Given the description of an element on the screen output the (x, y) to click on. 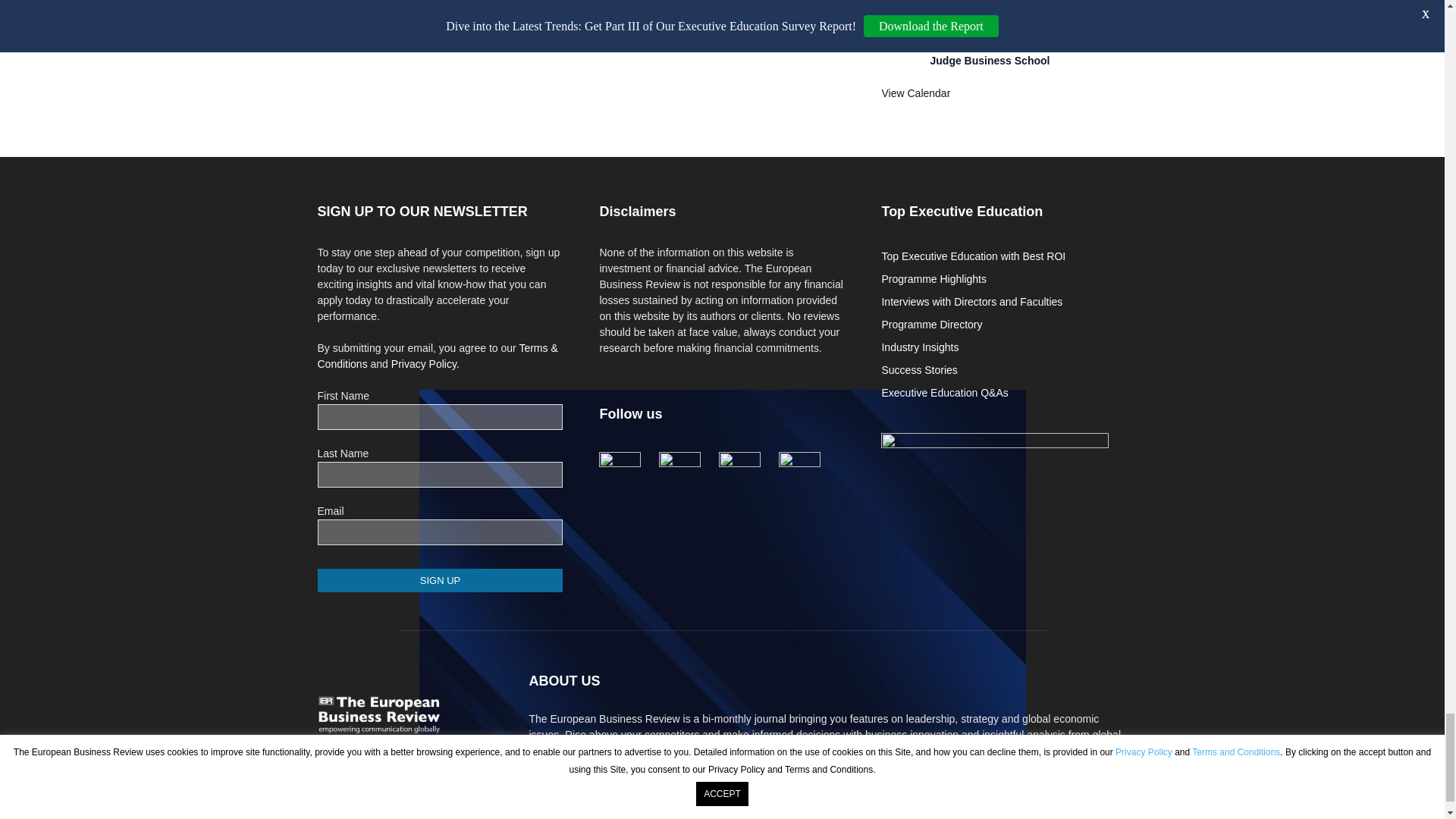
SIGN UP (439, 580)
